Given the description of an element on the screen output the (x, y) to click on. 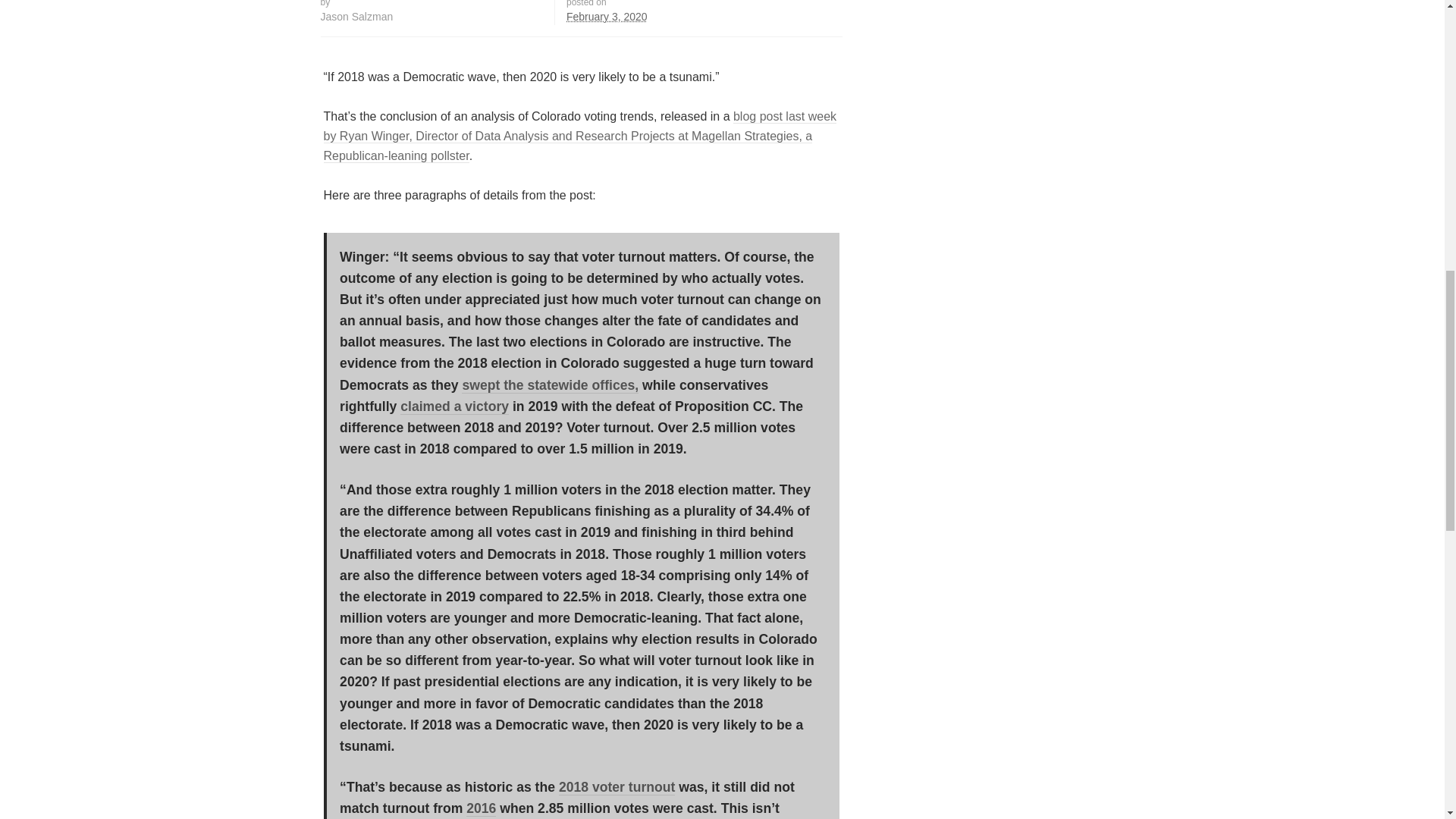
swept the statewide offices, (550, 385)
Posts by Jason Salzman (356, 16)
February 3, 2020 (606, 16)
claimed a victory (454, 406)
2016 (480, 808)
2018 voter turnout (617, 787)
Jason Salzman (356, 16)
